Given the description of an element on the screen output the (x, y) to click on. 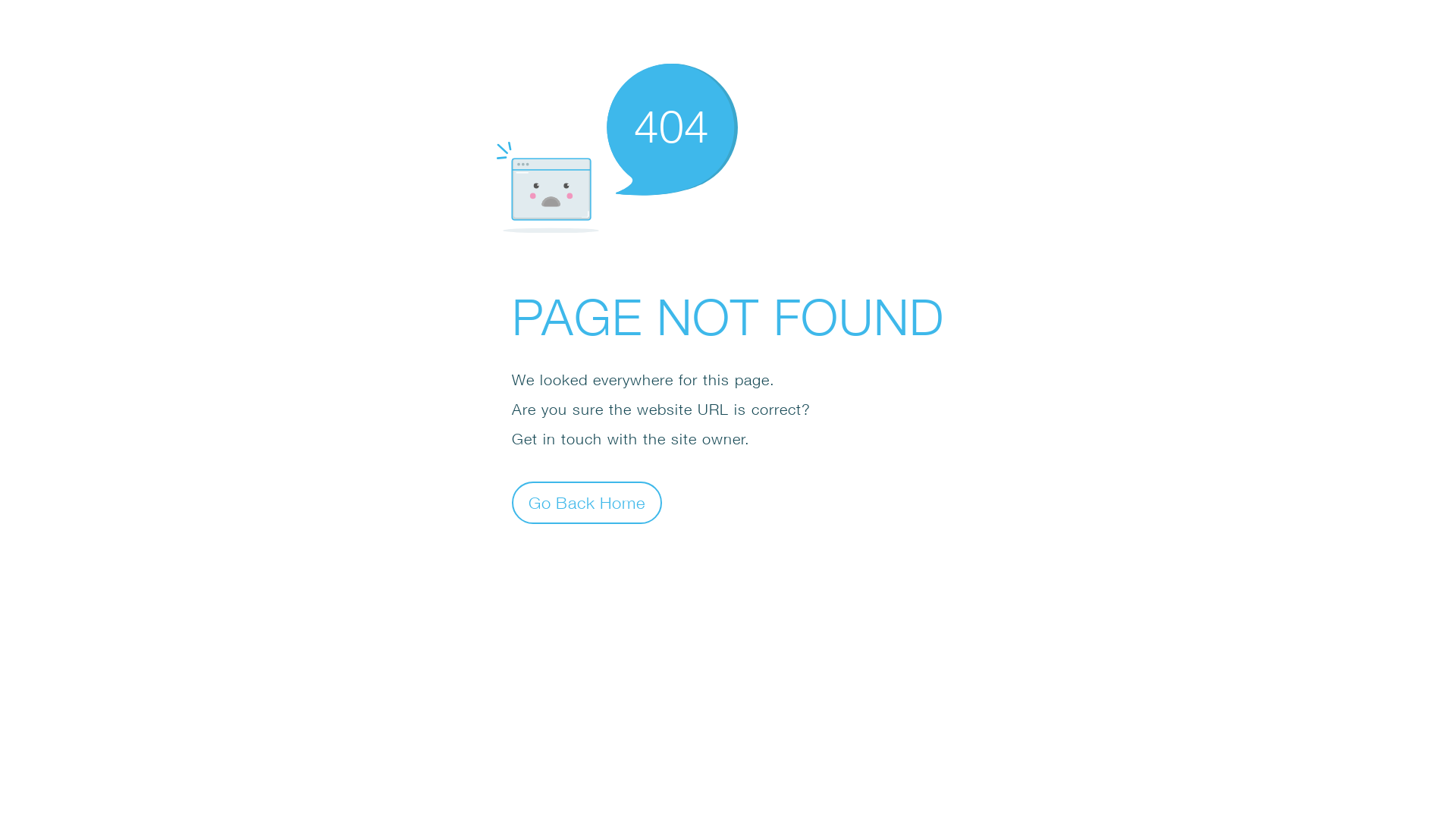
Go Back Home Element type: text (586, 502)
